Given the description of an element on the screen output the (x, y) to click on. 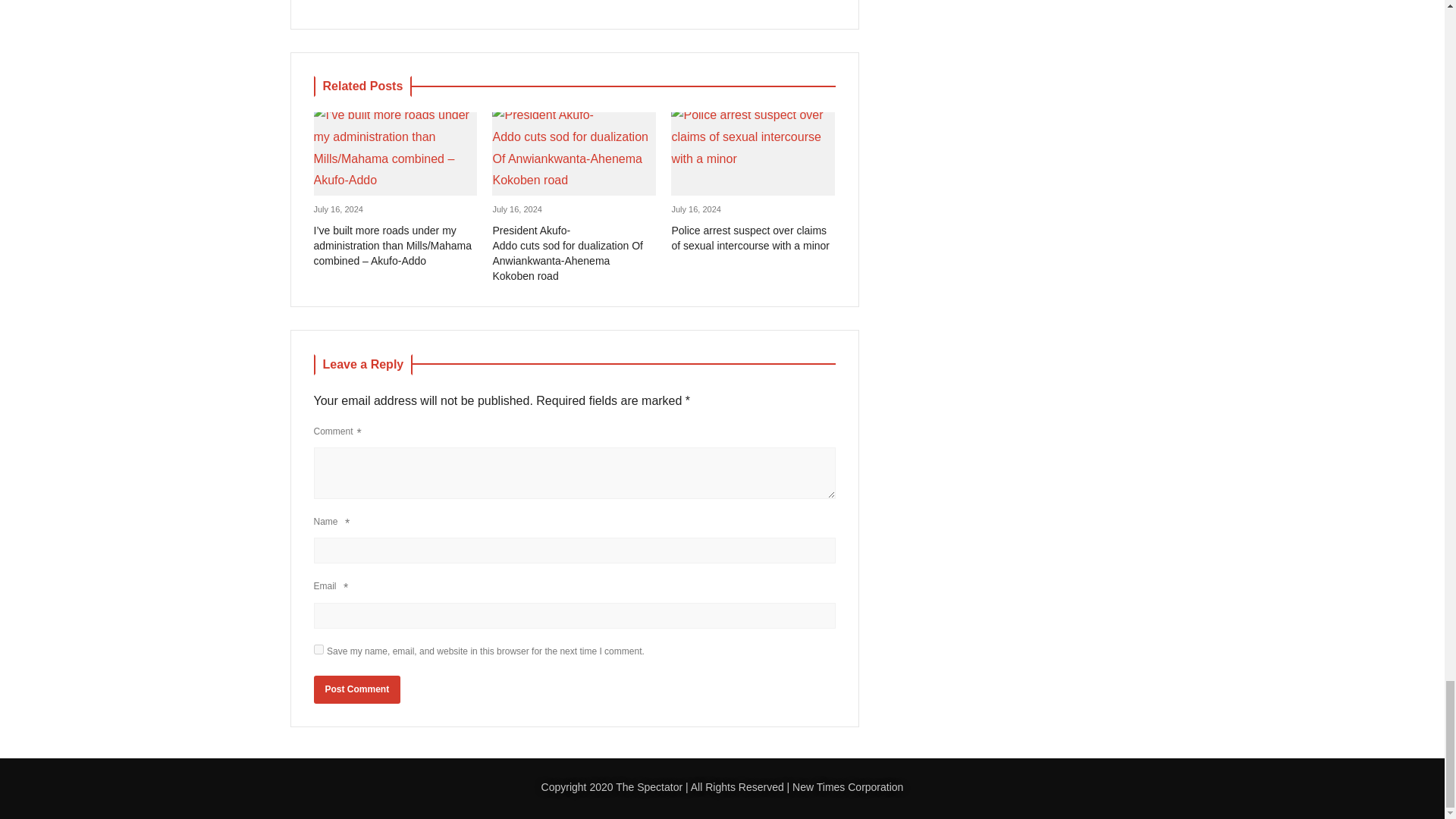
Post Comment (357, 689)
yes (318, 649)
